Given the description of an element on the screen output the (x, y) to click on. 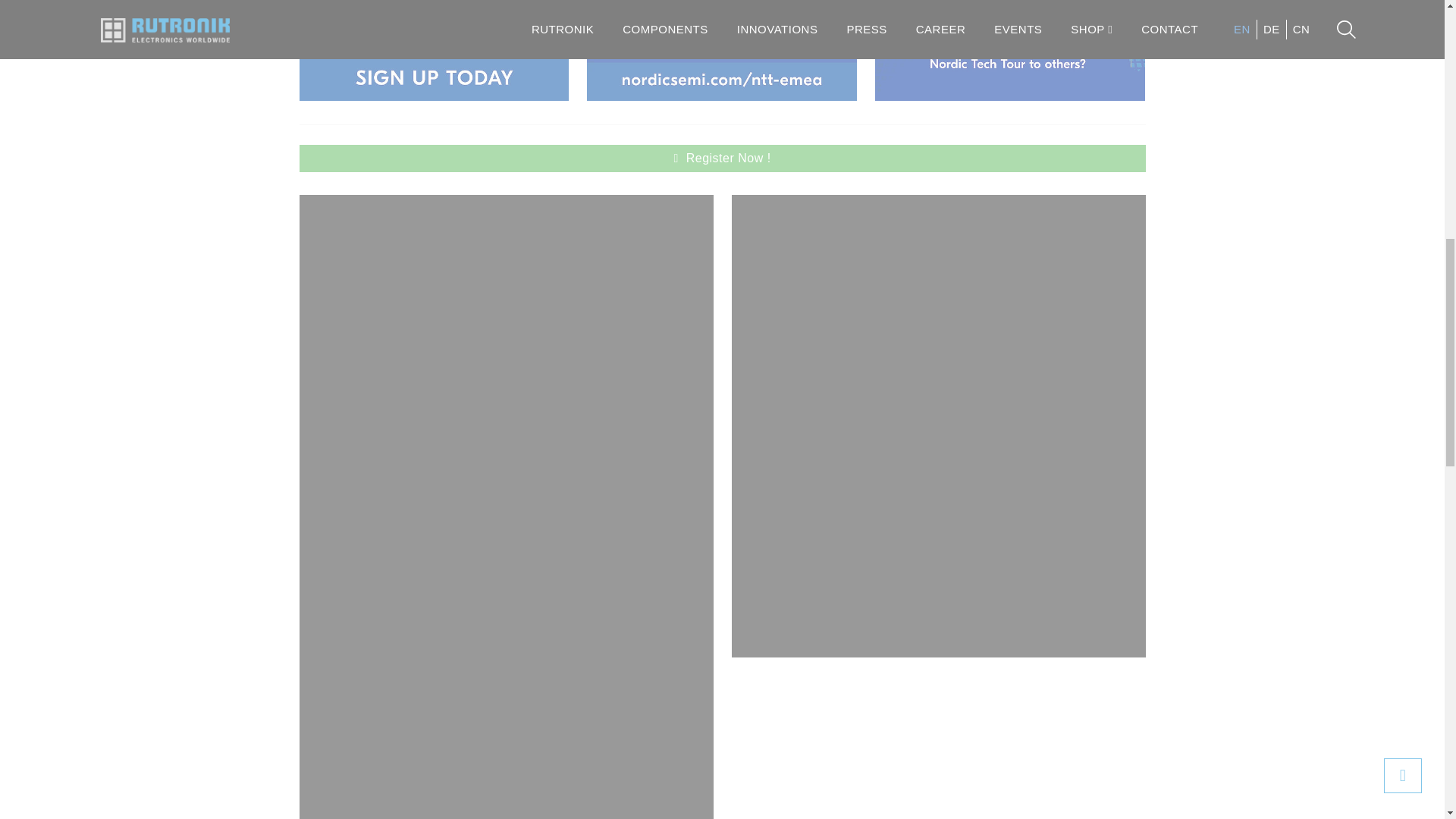
Banner EMEA 2023 (433, 50)
EMEA Appointments (721, 50)
Recommendation EMEA (1009, 50)
